Given the description of an element on the screen output the (x, y) to click on. 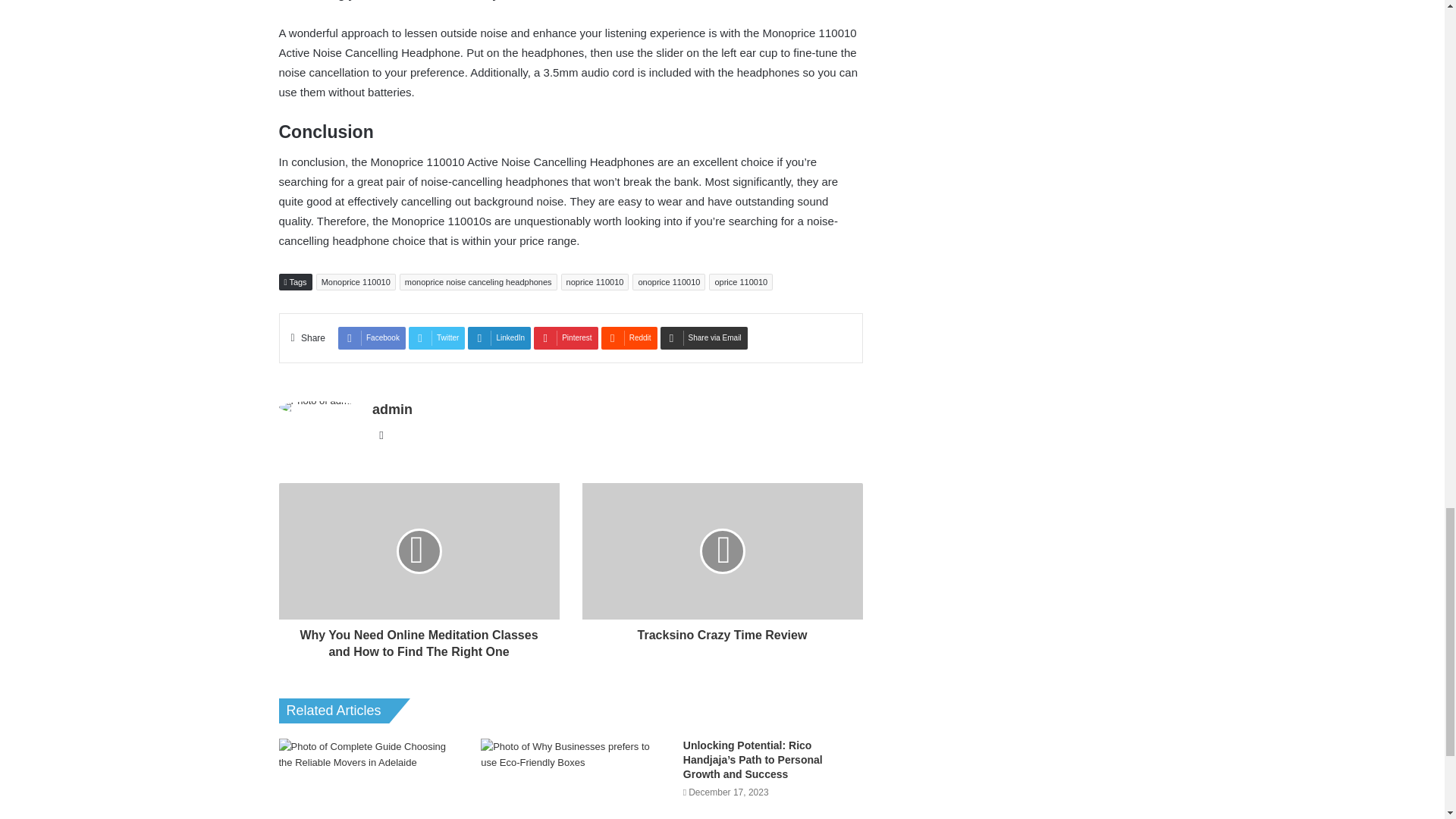
Monoprice 110010 (355, 281)
Share via Email (704, 337)
onoprice 110010 (667, 281)
monoprice noise canceling headphones (477, 281)
LinkedIn (499, 337)
Pinterest (565, 337)
Twitter (436, 337)
Facebook (371, 337)
noprice 110010 (594, 281)
Reddit (629, 337)
